Given the description of an element on the screen output the (x, y) to click on. 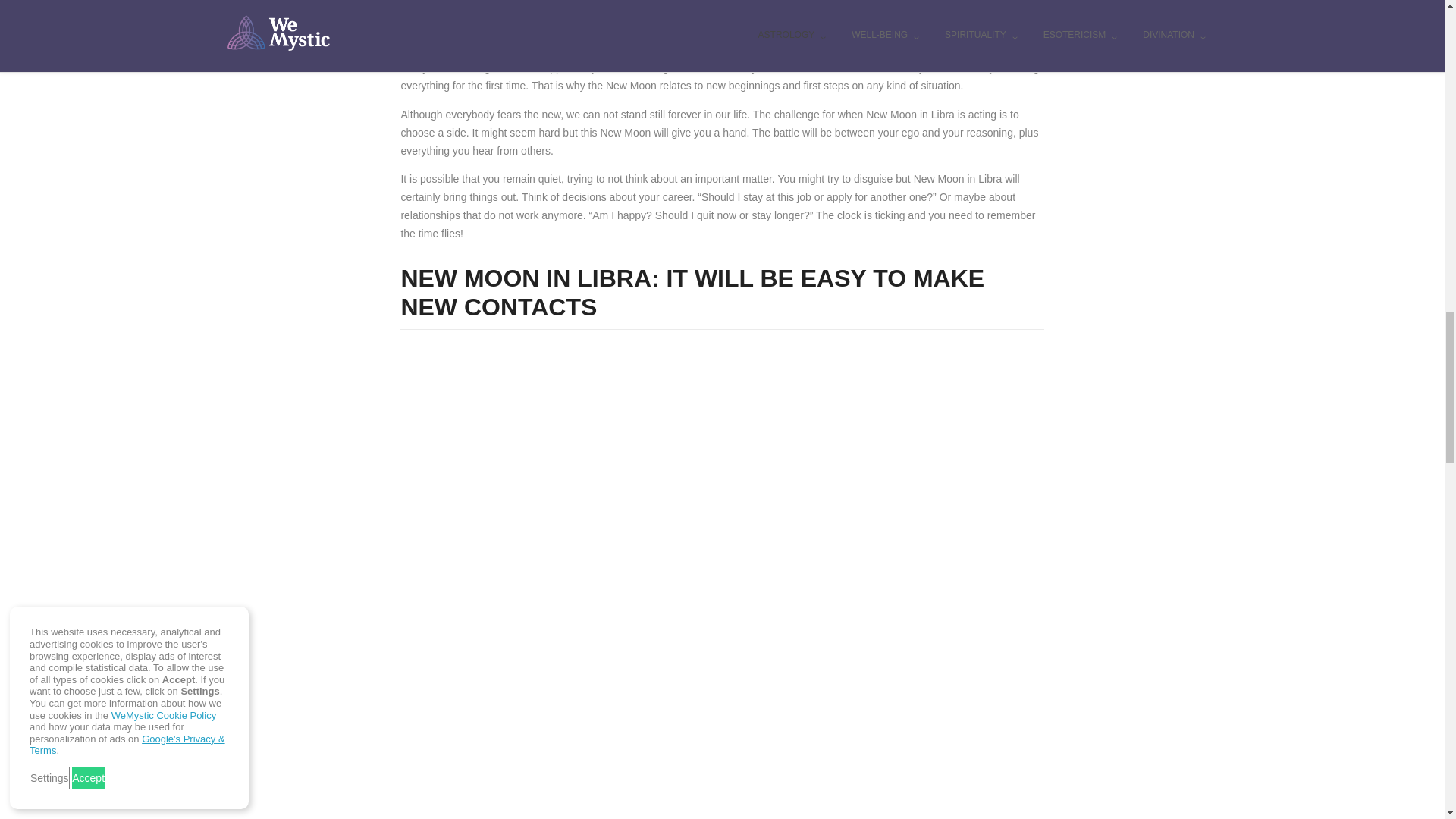
SUBSCRIBE FOR FREE (945, 12)
